Given the description of an element on the screen output the (x, y) to click on. 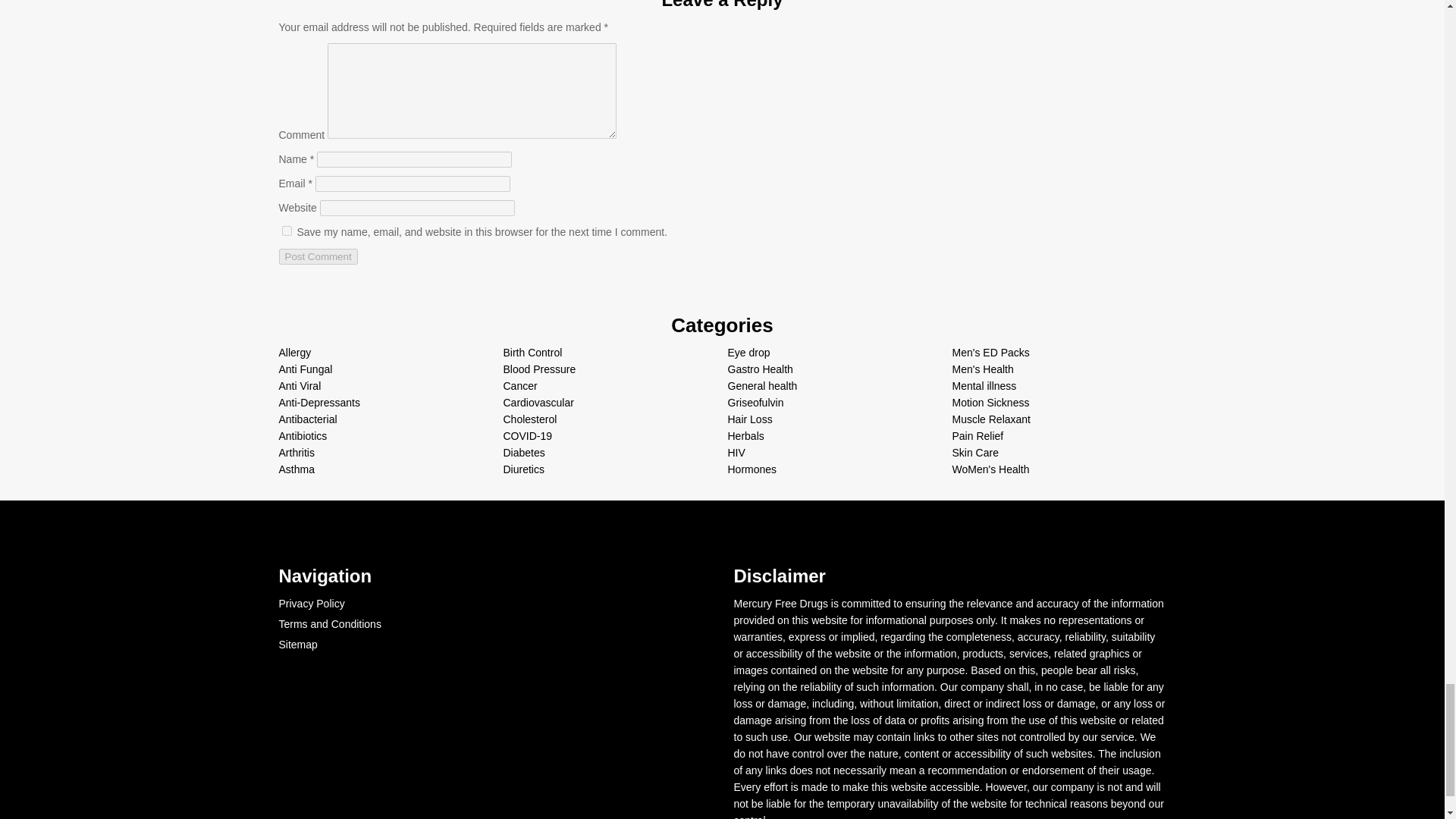
Anti Fungal (306, 369)
Blood Pressure (539, 369)
Eye drop (749, 352)
Anti Viral (300, 386)
Anti-Depressants (319, 402)
Post Comment (318, 256)
Diabetes (523, 452)
Post Comment (318, 256)
Allergy (295, 352)
COVID-19 (528, 435)
